Given the description of an element on the screen output the (x, y) to click on. 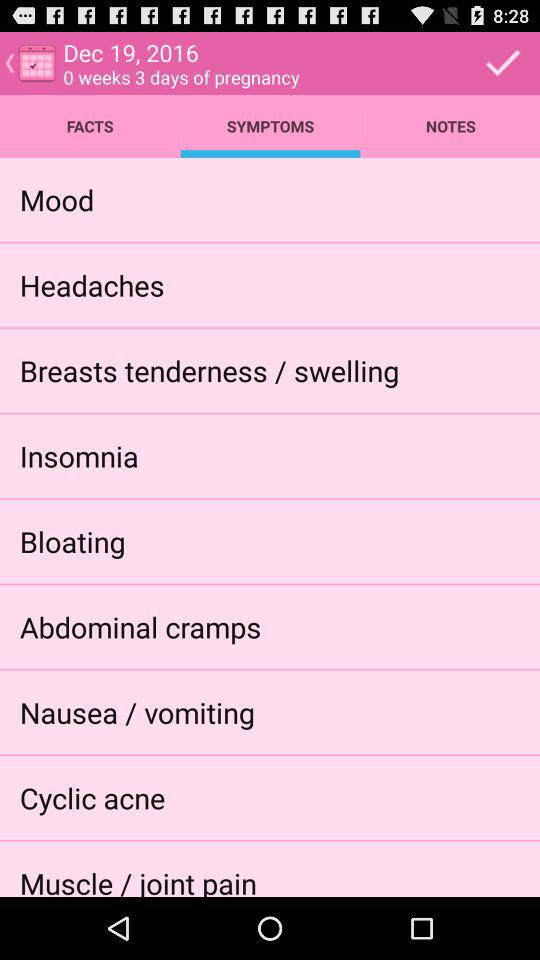
choose the mood (56, 199)
